Given the description of an element on the screen output the (x, y) to click on. 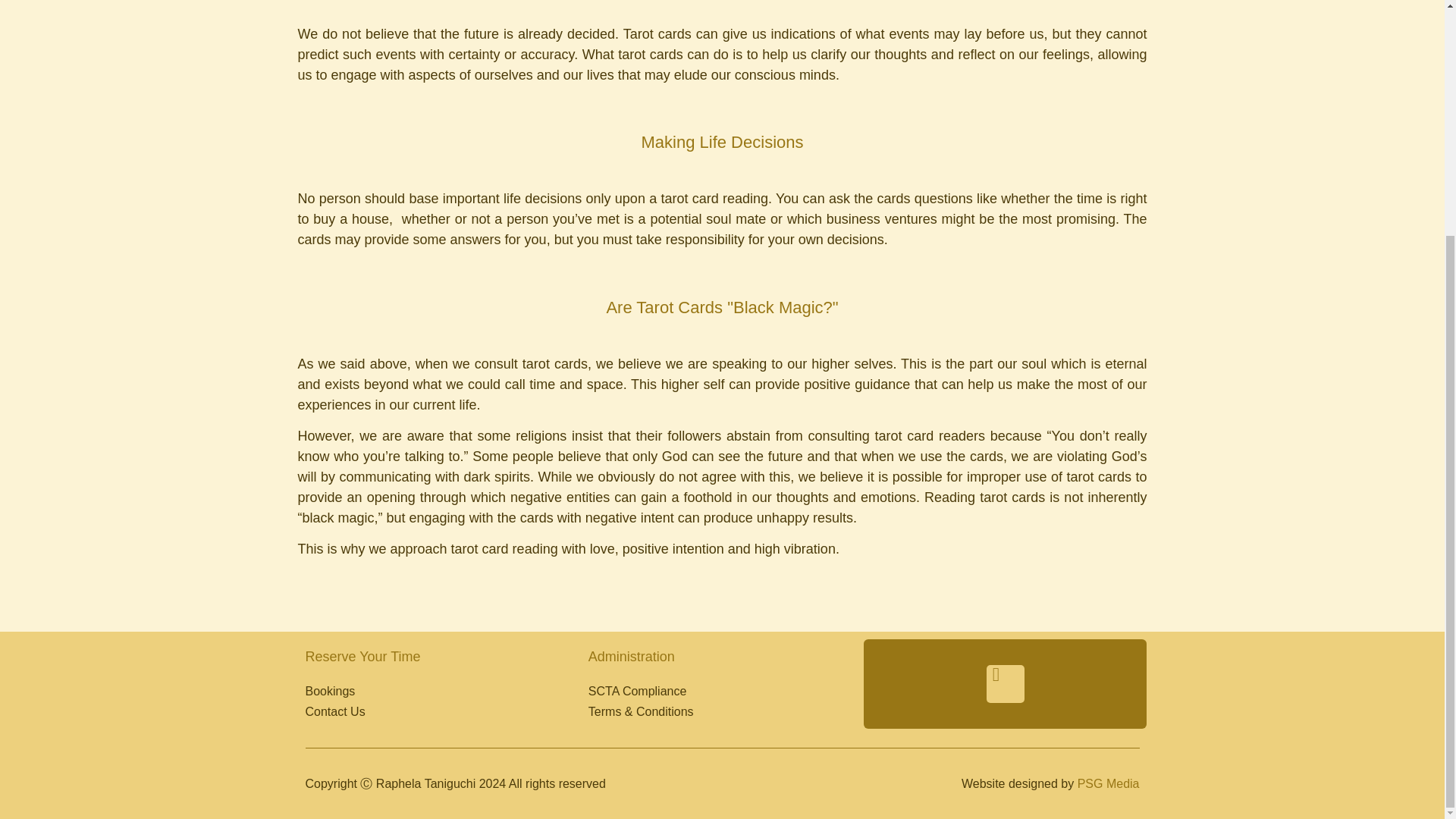
SCTA Compliance (722, 691)
Contact Us (438, 711)
PSG Media (1108, 783)
Bookings (438, 691)
